Given the description of an element on the screen output the (x, y) to click on. 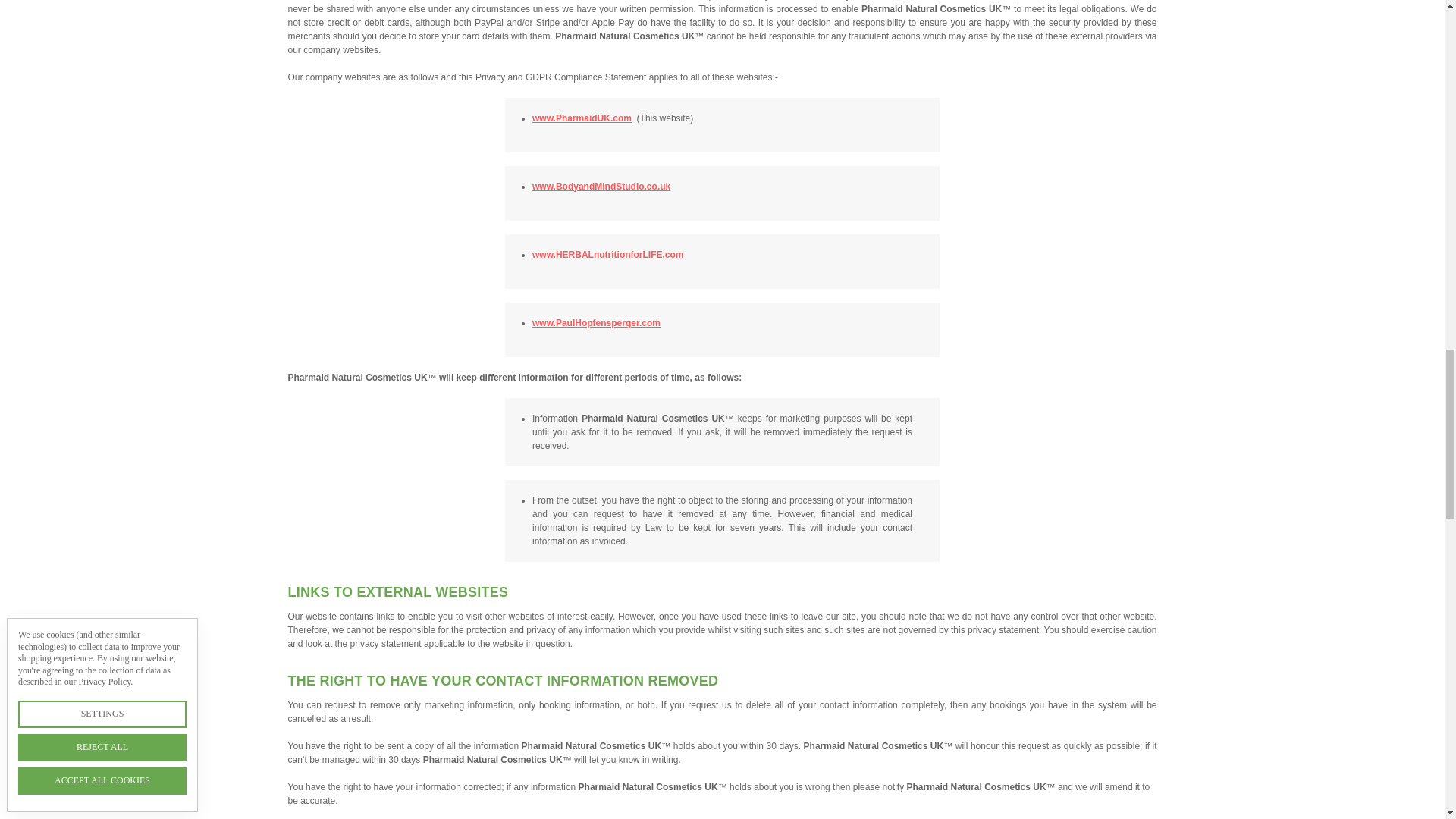
HERBAL Nutrition for LIFE (608, 253)
Pharmaid Natural Cosmetics UK (581, 117)
Body and Mind Studio International (600, 185)
